Given the description of an element on the screen output the (x, y) to click on. 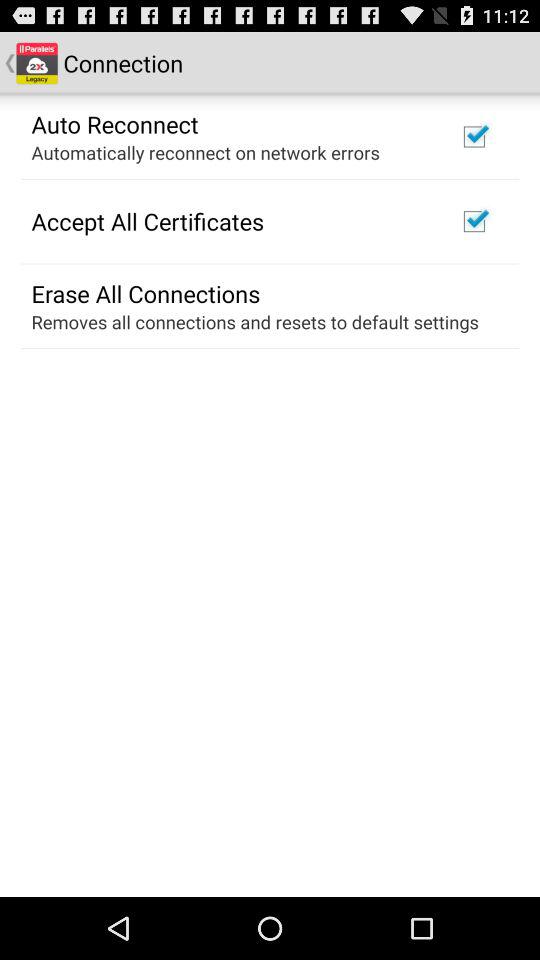
press the item at the top (205, 151)
